Given the description of an element on the screen output the (x, y) to click on. 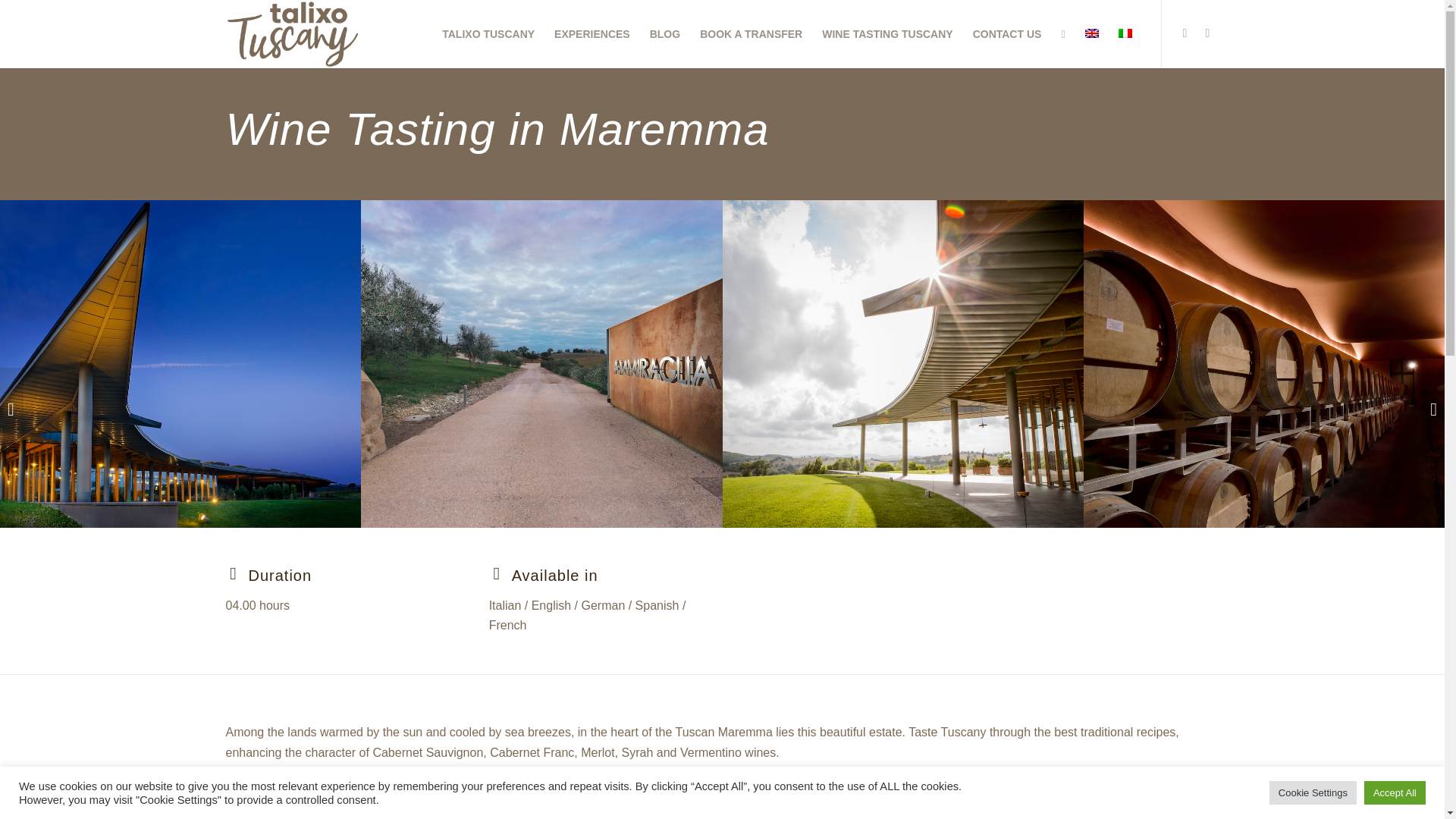
BOOK A TRANSFER (751, 33)
TALIXO TUSCANY (488, 33)
English (1090, 32)
Facebook (1208, 33)
CONTACT US (1006, 33)
Italiano (1124, 32)
Instagram (1184, 33)
EXPERIENCES (592, 33)
Cookie Settings (1312, 792)
WINE TASTING TUSCANY (887, 33)
